Given the description of an element on the screen output the (x, y) to click on. 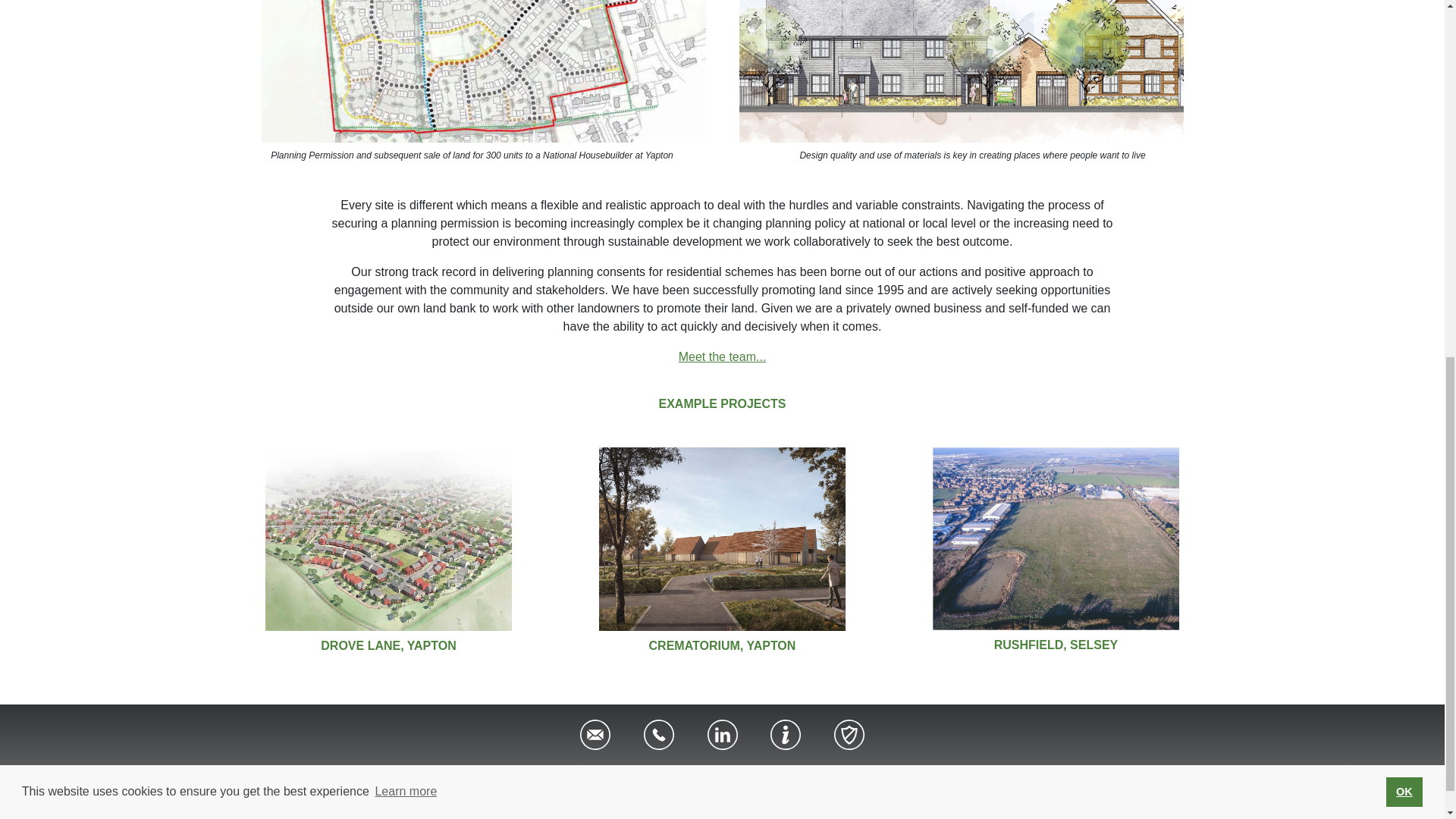
Our services (622, 785)
CONTACT (925, 785)
ur team (712, 785)
OUR TEAM (712, 785)
Drove Lane (721, 537)
Meet the team... (722, 356)
RUSHFIELD, SELSEY (1056, 644)
Projects (792, 785)
PROJECTS (792, 785)
Drove Lane (722, 645)
Learn more (405, 137)
NEWS (860, 785)
WHAT WE DO (527, 785)
Drove Lane (387, 645)
OK (1404, 137)
